Given the description of an element on the screen output the (x, y) to click on. 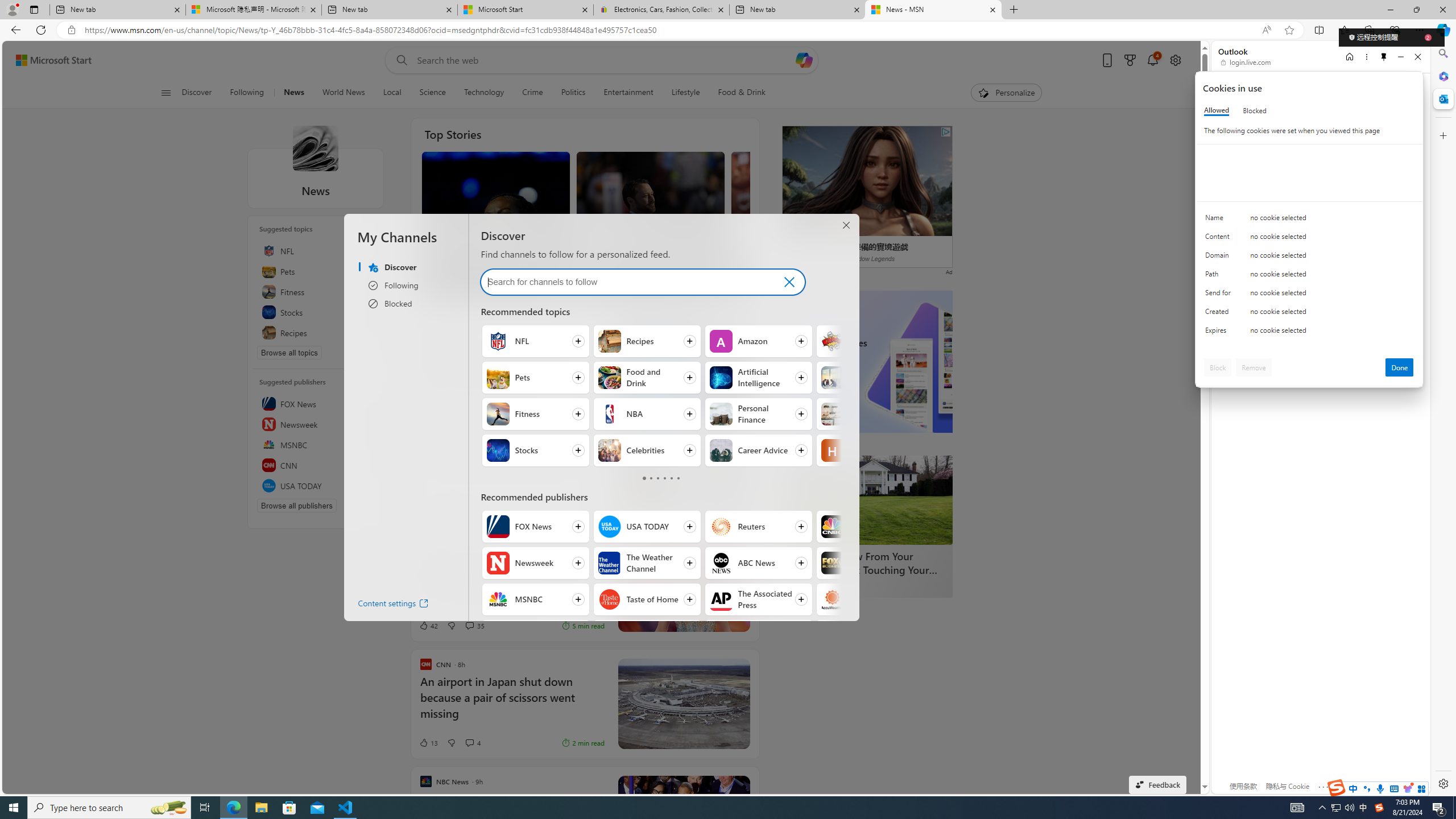
News (293, 92)
Lifestyle (685, 92)
Allowed (1216, 110)
Politics (572, 92)
Entertainment (627, 92)
View site information (70, 29)
Open Copilot (803, 59)
Skip to content (49, 59)
Home (1348, 56)
Jennifer Lopez has filed for divorce from Ben Affleck (804, 249)
Following (248, 92)
Follow Fox Business (869, 563)
USA TODAY (609, 526)
Recipes (315, 332)
